Given the description of an element on the screen output the (x, y) to click on. 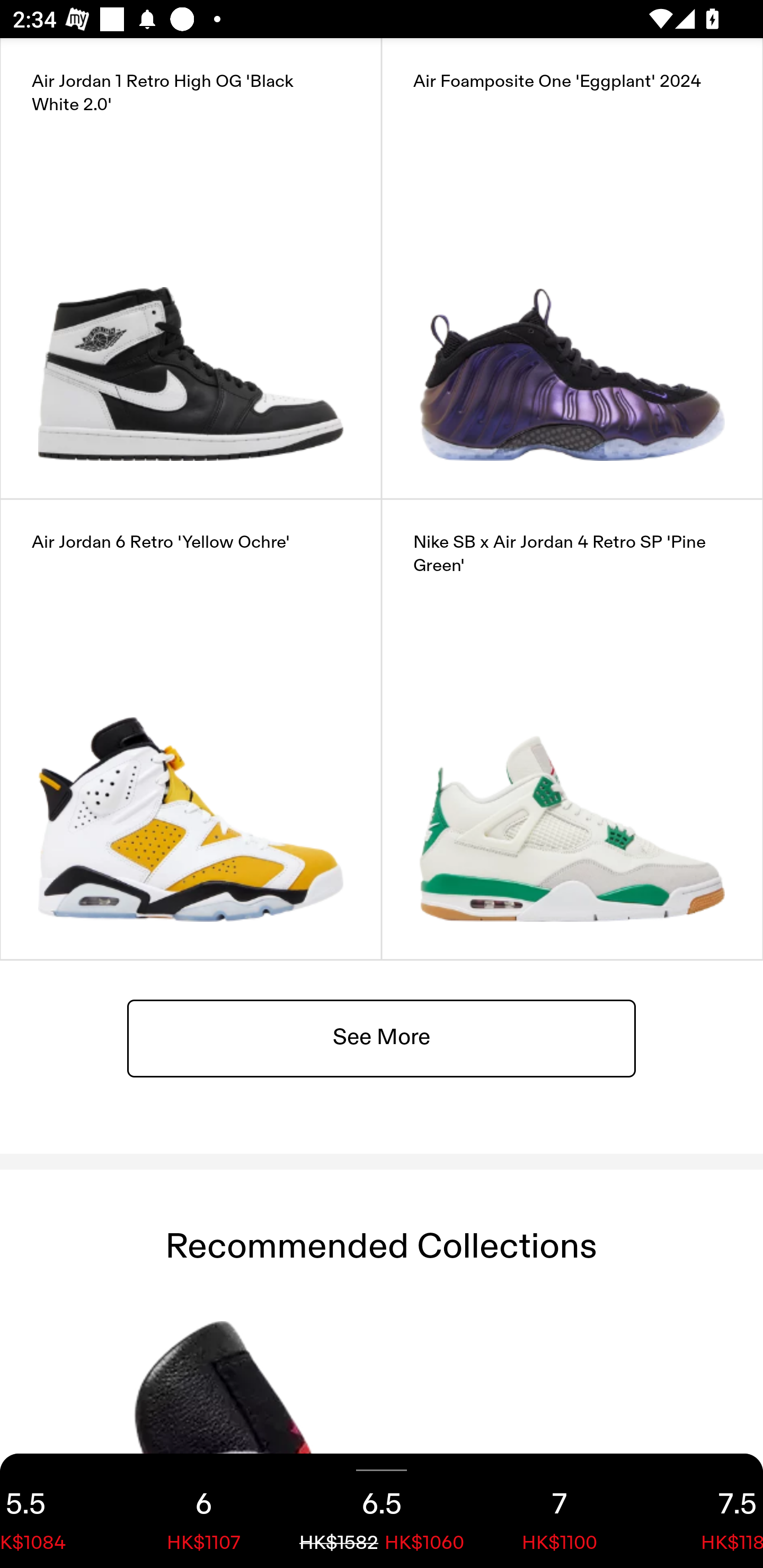
Air Jordan 1 Retro High OG 'Black White 2.0' (190, 267)
Air Foamposite One 'Eggplant' 2024 (572, 267)
Air Jordan 6 Retro 'Yellow Ochre' (190, 728)
Nike SB x Air Jordan 4 Retro SP 'Pine Green' (572, 728)
See More (381, 1037)
5.5 HK$1084 (57, 1510)
6 HK$1107 (203, 1510)
6.5 HK$1582 HK$1060 (381, 1510)
7 HK$1100 (559, 1510)
7.5 HK$1187 (705, 1510)
